Given the description of an element on the screen output the (x, y) to click on. 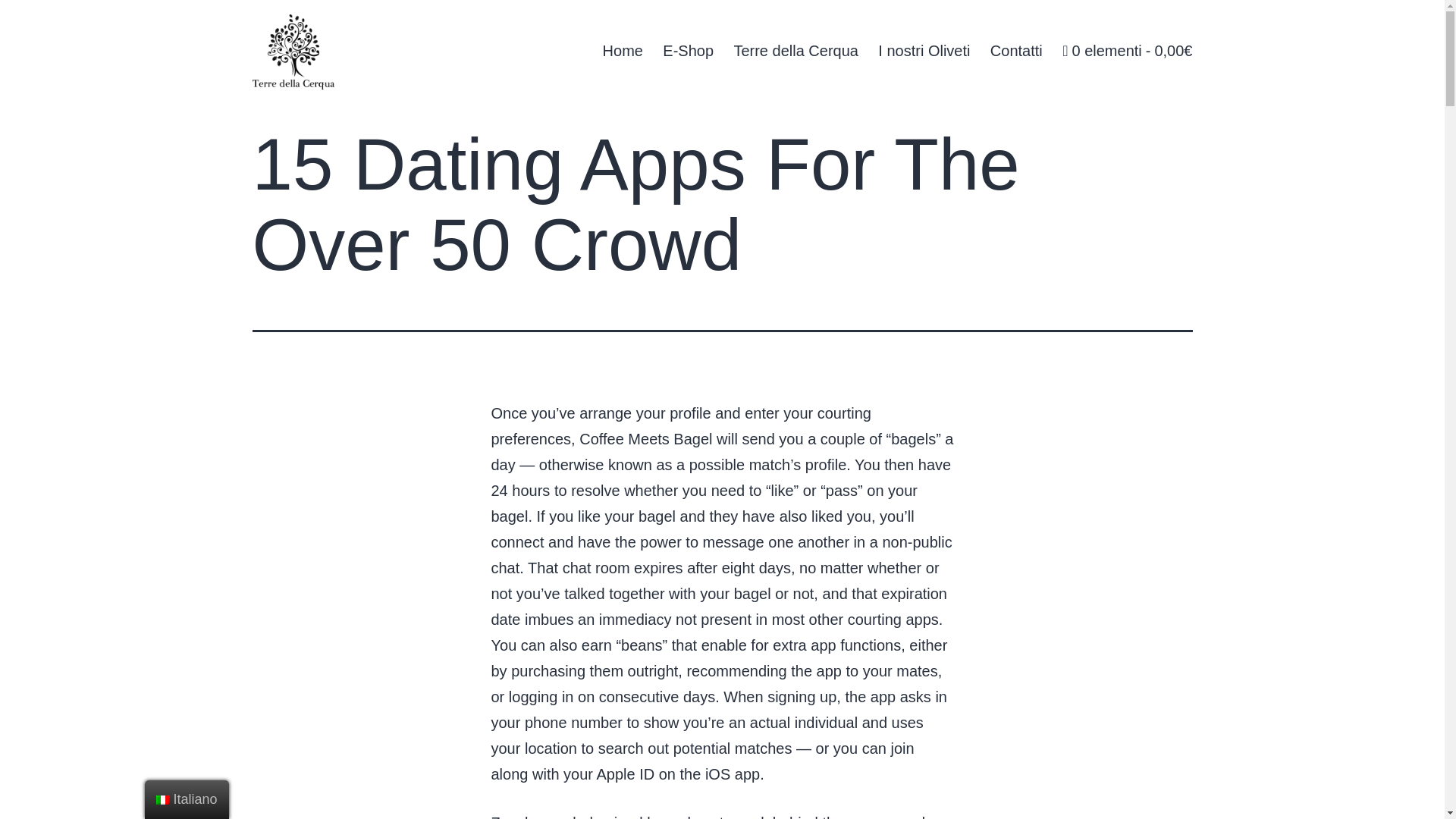
Contatti (1015, 49)
Home (622, 49)
Italiano (186, 799)
I nostri Oliveti (923, 49)
Italiano (162, 799)
E-Shop (687, 49)
Terre della Cerqua (795, 49)
Vai al negozio (1127, 49)
